Given the description of an element on the screen output the (x, y) to click on. 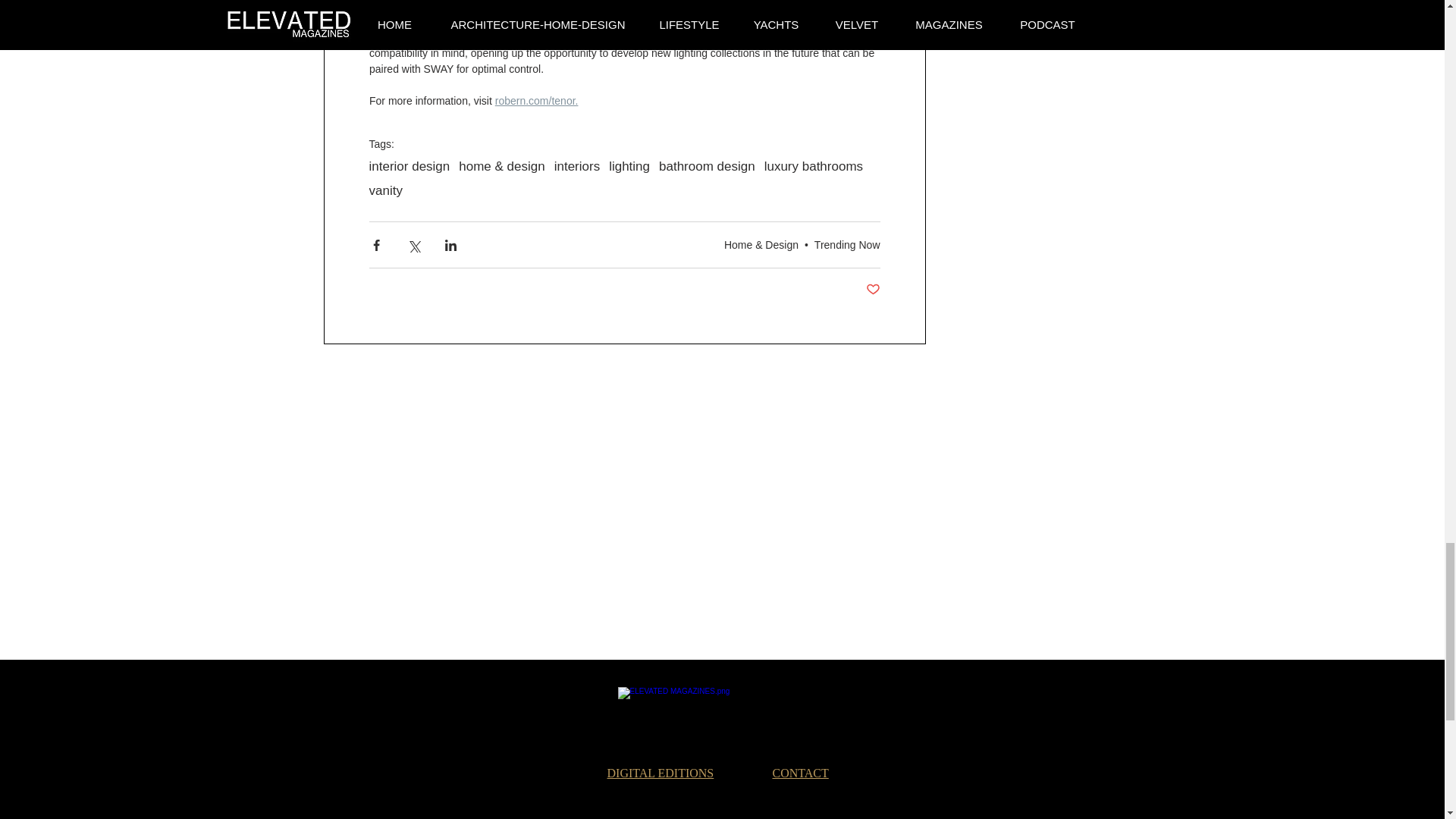
vanity (384, 191)
lighting (628, 166)
Post not marked as liked (873, 289)
bathroom design (707, 166)
Trending Now (846, 244)
interior design (408, 166)
interiors (576, 166)
luxury bathrooms (813, 166)
